Given the description of an element on the screen output the (x, y) to click on. 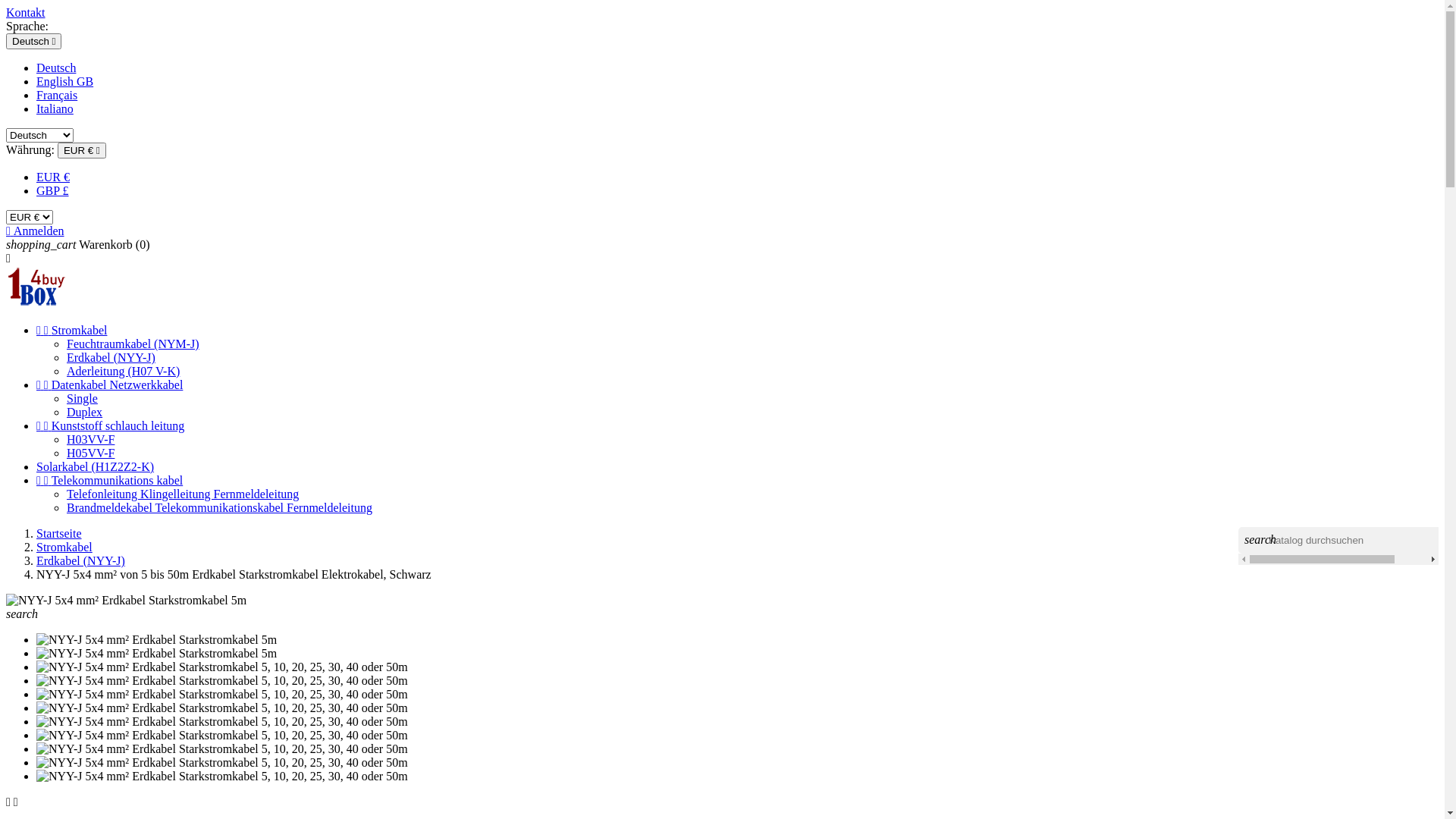
Italiano Element type: text (54, 108)
Telefonleitung Klingelleitung Fernmeldeleitung Element type: text (182, 493)
Single Element type: text (81, 398)
Kontakt Element type: text (25, 12)
Erdkabel (NYY-J) Element type: text (80, 560)
Solarkabel (H1Z2Z2-K) Element type: text (94, 466)
Brandmeldekabel Telekommunikationskabel Fernmeldeleitung Element type: text (219, 507)
Erdkabel (NYY-J) Element type: text (110, 357)
H05VV-F Element type: text (90, 452)
English GB Element type: text (64, 81)
Aderleitung (H07 V-K) Element type: text (122, 370)
Deutsch Element type: text (55, 67)
Duplex Element type: text (84, 411)
Stromkabel Element type: text (64, 546)
H03VV-F Element type: text (90, 439)
Feuchtraumkabel (NYM-J) Element type: text (132, 343)
Startseite Element type: text (58, 533)
